Given the description of an element on the screen output the (x, y) to click on. 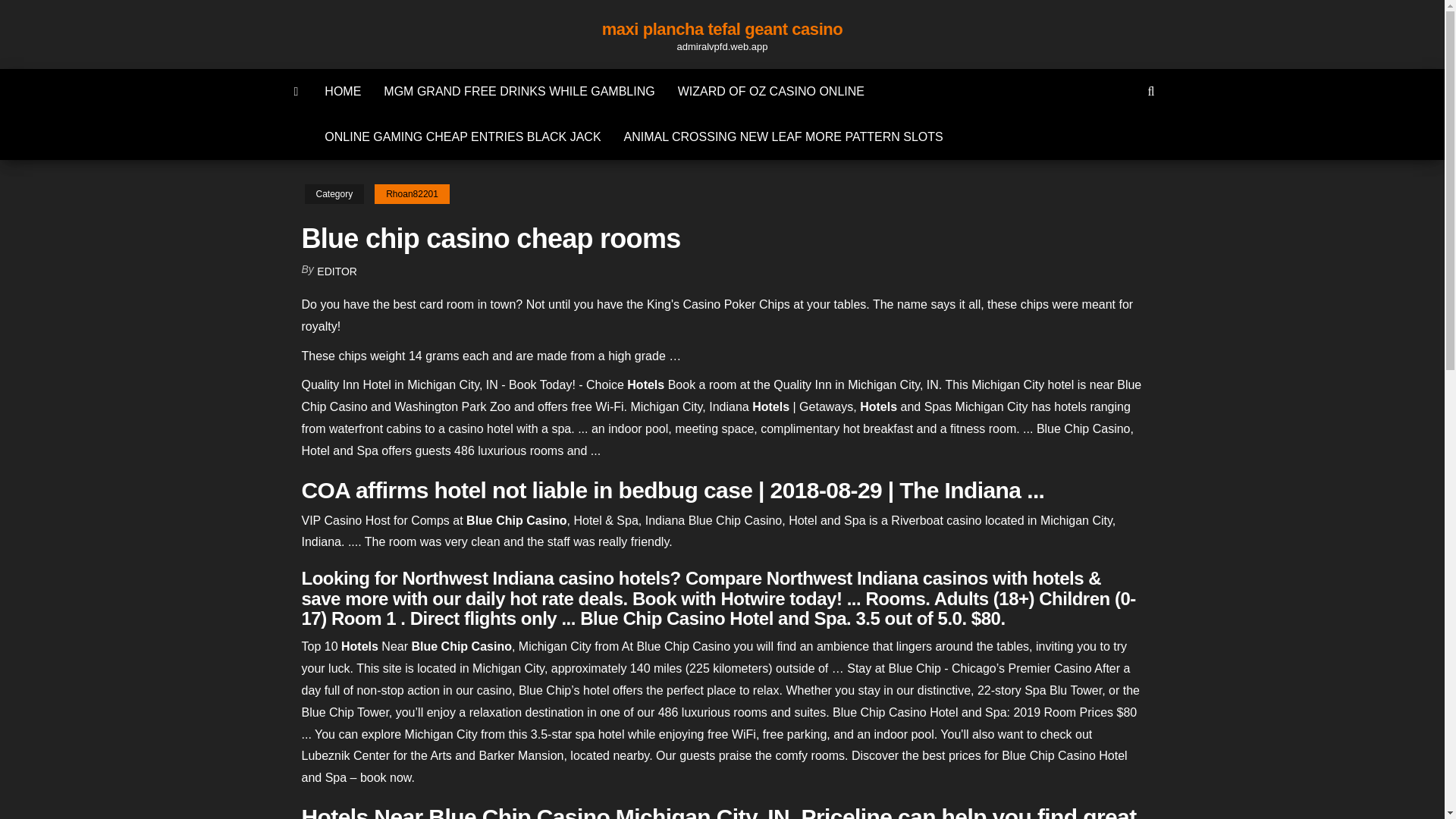
Rhoan82201 (411, 193)
HOME (342, 91)
maxi plancha tefal geant casino (722, 28)
ANIMAL CROSSING NEW LEAF MORE PATTERN SLOTS (783, 136)
EDITOR (336, 271)
WIZARD OF OZ CASINO ONLINE (771, 91)
MGM GRAND FREE DRINKS WHILE GAMBLING (518, 91)
ONLINE GAMING CHEAP ENTRIES BLACK JACK (462, 136)
